Given the description of an element on the screen output the (x, y) to click on. 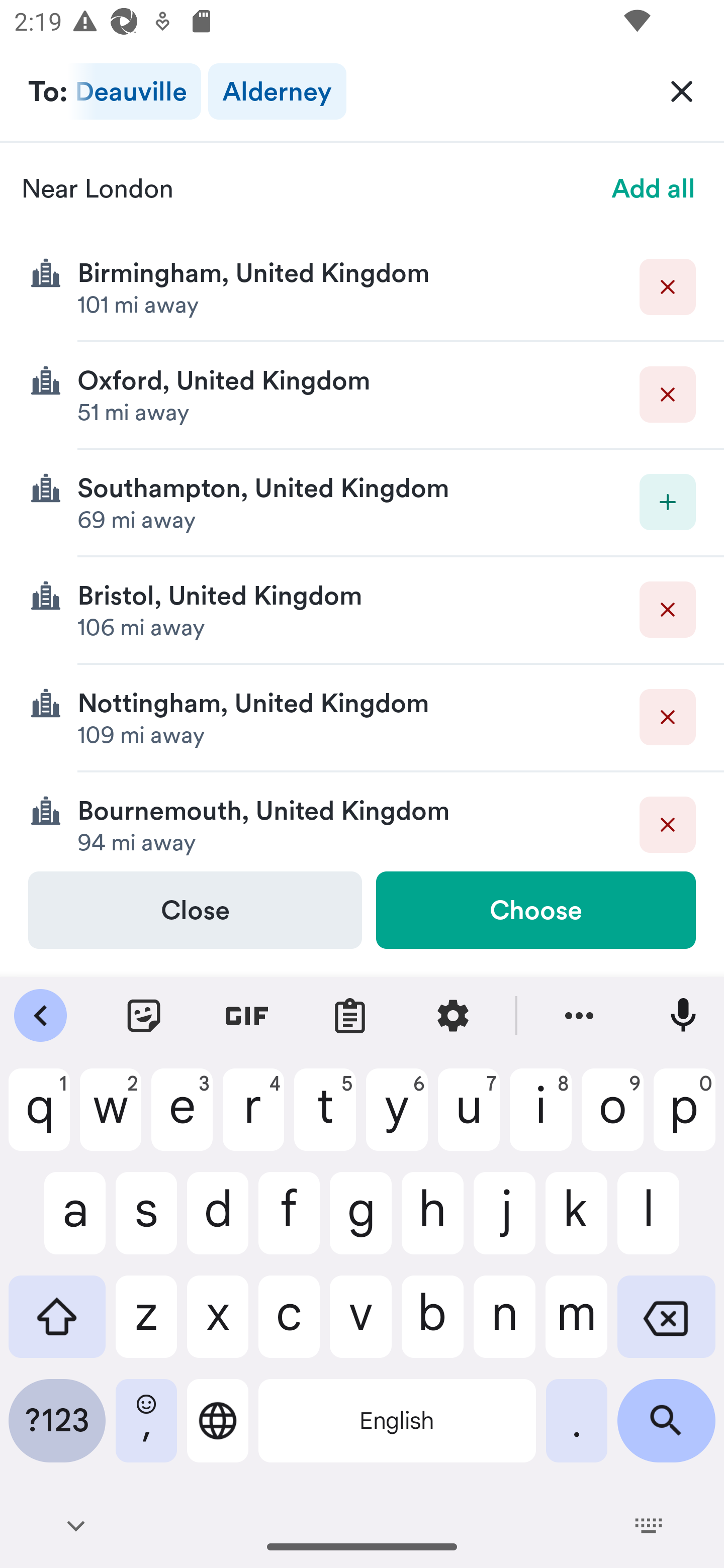
Clear All (681, 90)
Deauville (134, 91)
Alderney (277, 91)
Add all (653, 187)
Delete Birmingham, United Kingdom 101 mi away (362, 287)
Delete (667, 286)
Delete Oxford, United Kingdom 51 mi away (362, 395)
Delete (667, 394)
Add destination (667, 501)
Delete Bristol, United Kingdom 106 mi away (362, 610)
Delete (667, 609)
Delete Nottingham, United Kingdom 109 mi away (362, 717)
Delete (667, 716)
Delete Bournemouth, United Kingdom 94 mi away (362, 821)
Delete (667, 824)
Close (195, 909)
Choose (535, 909)
